Given the description of an element on the screen output the (x, y) to click on. 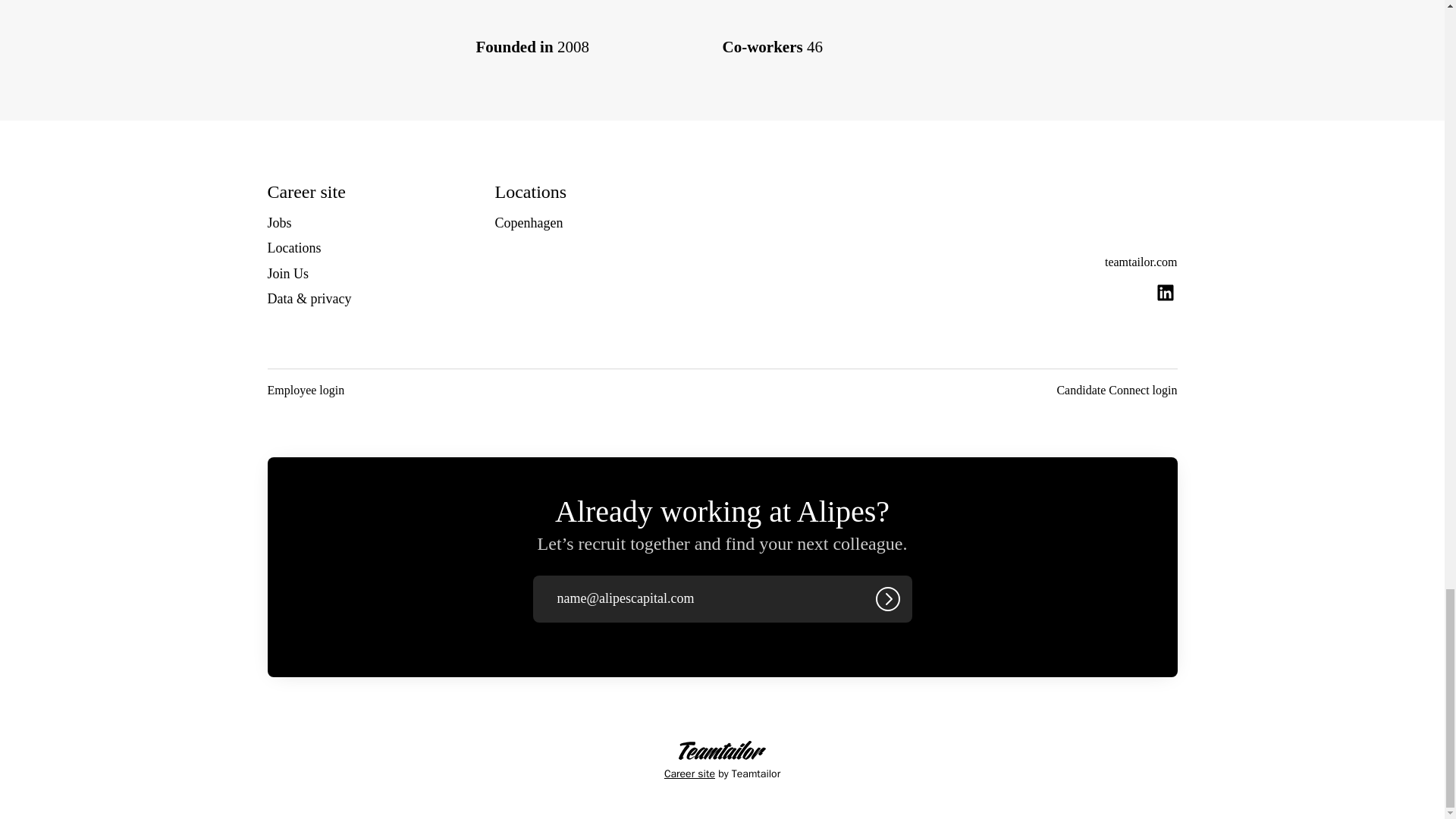
Employee login (304, 390)
teamtailor.com (1141, 262)
Career site by Teamtailor (722, 760)
Copenhagen (528, 222)
Join Us (287, 273)
Locations (293, 247)
Candidate Connect login (1116, 390)
Jobs (278, 222)
Log in (887, 598)
